Given the description of an element on the screen output the (x, y) to click on. 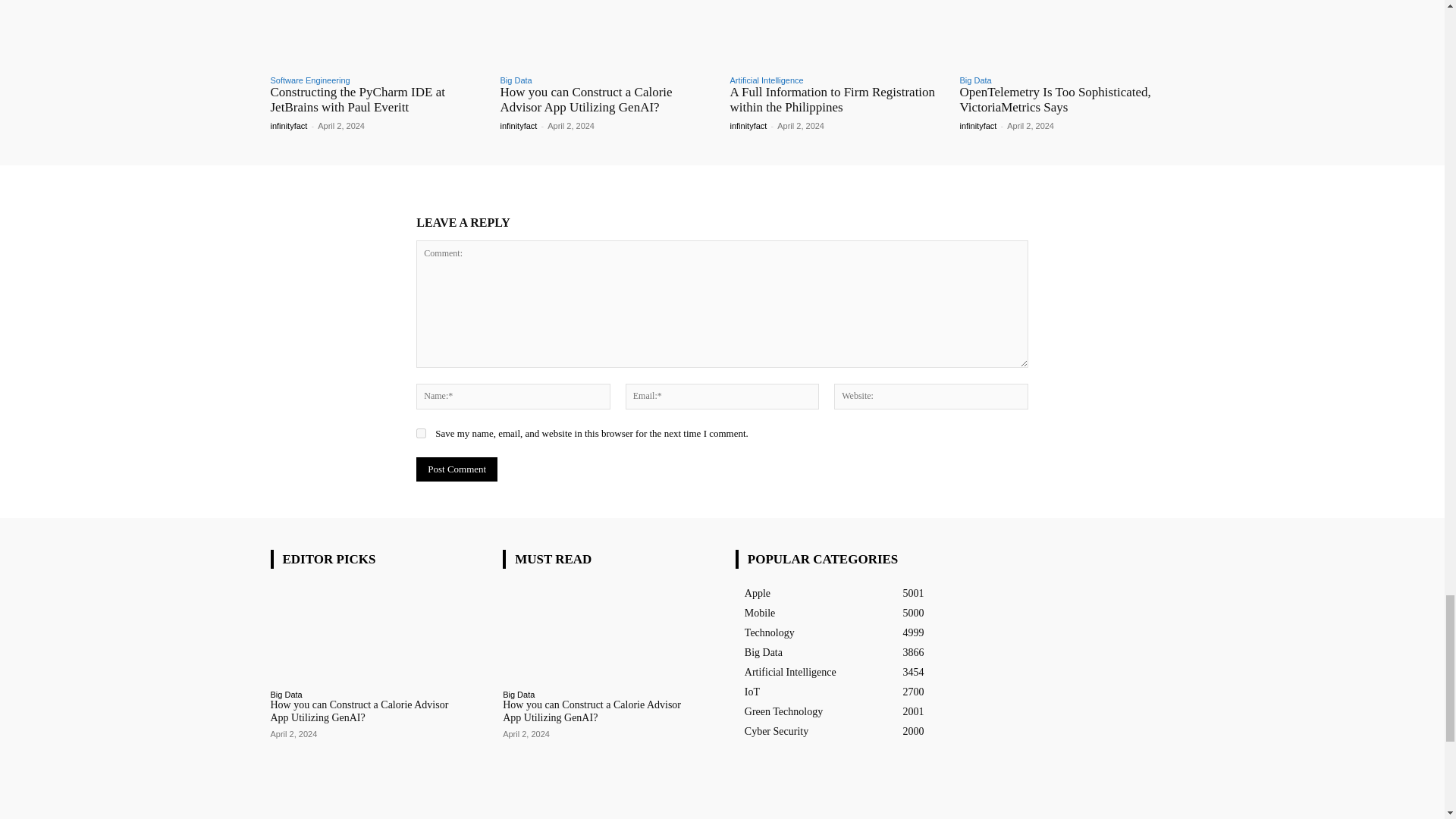
Post Comment (456, 469)
yes (421, 433)
